Given the description of an element on the screen output the (x, y) to click on. 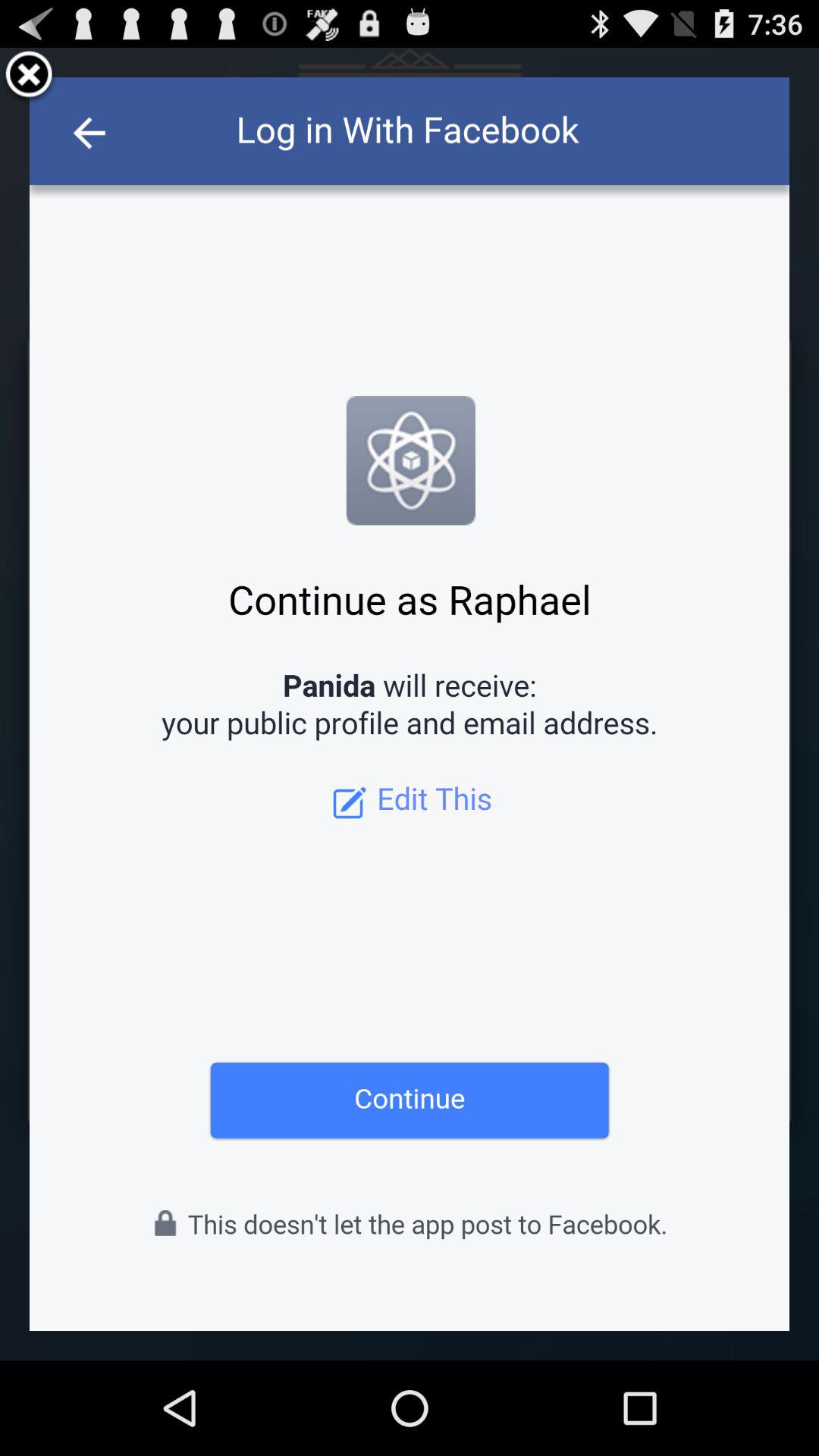
inder pega (29, 76)
